Given the description of an element on the screen output the (x, y) to click on. 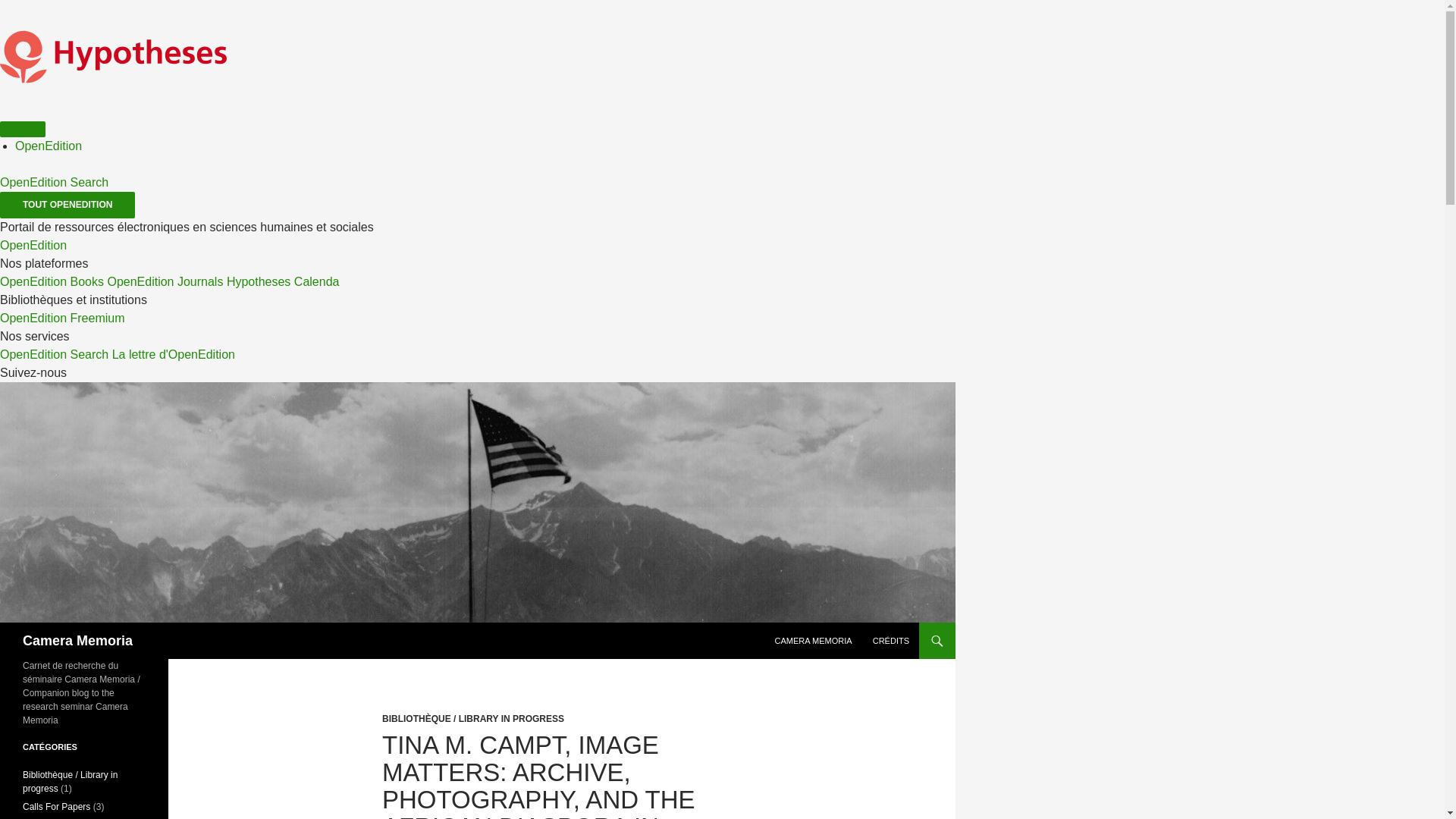
OpenEdition Books (51, 281)
Home (113, 109)
Calenda (316, 281)
OpenEdition Freemium (62, 318)
La lettre d'OpenEdition (173, 354)
OpenEdition (33, 245)
Camera Memoria (77, 640)
Hypotheses (259, 281)
TOUT OPENEDITION (67, 204)
OpenEdition (47, 145)
OpenEdition Search (53, 354)
OpenEdition Search (53, 182)
OpenEdition Journals (164, 281)
Calls For Papers (56, 806)
